Given the description of an element on the screen output the (x, y) to click on. 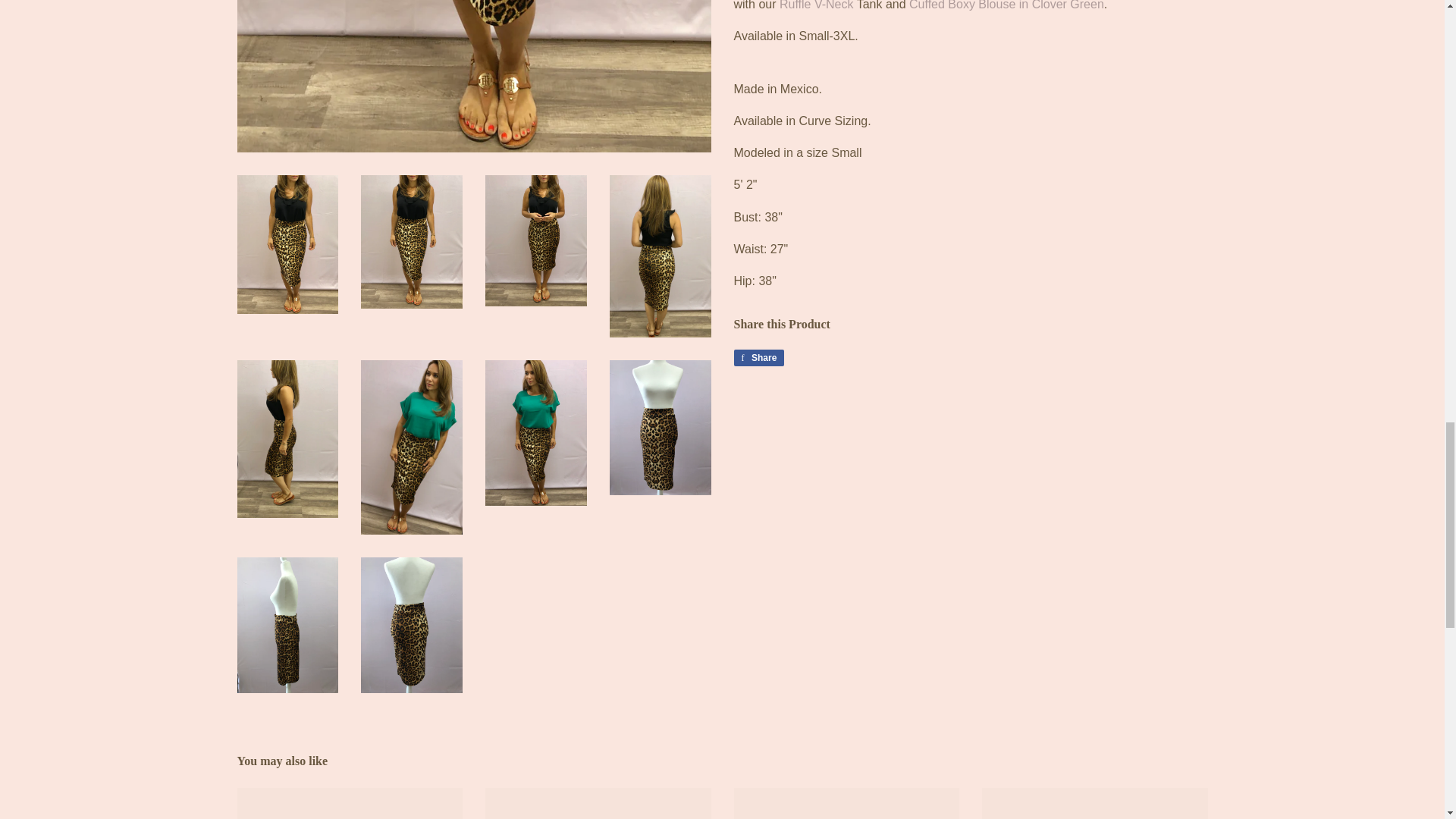
Ruffle V Neck Tank (815, 5)
Share on Facebook (758, 357)
Cuffed Boxy Blouse in Clover Green (1005, 5)
